Given the description of an element on the screen output the (x, y) to click on. 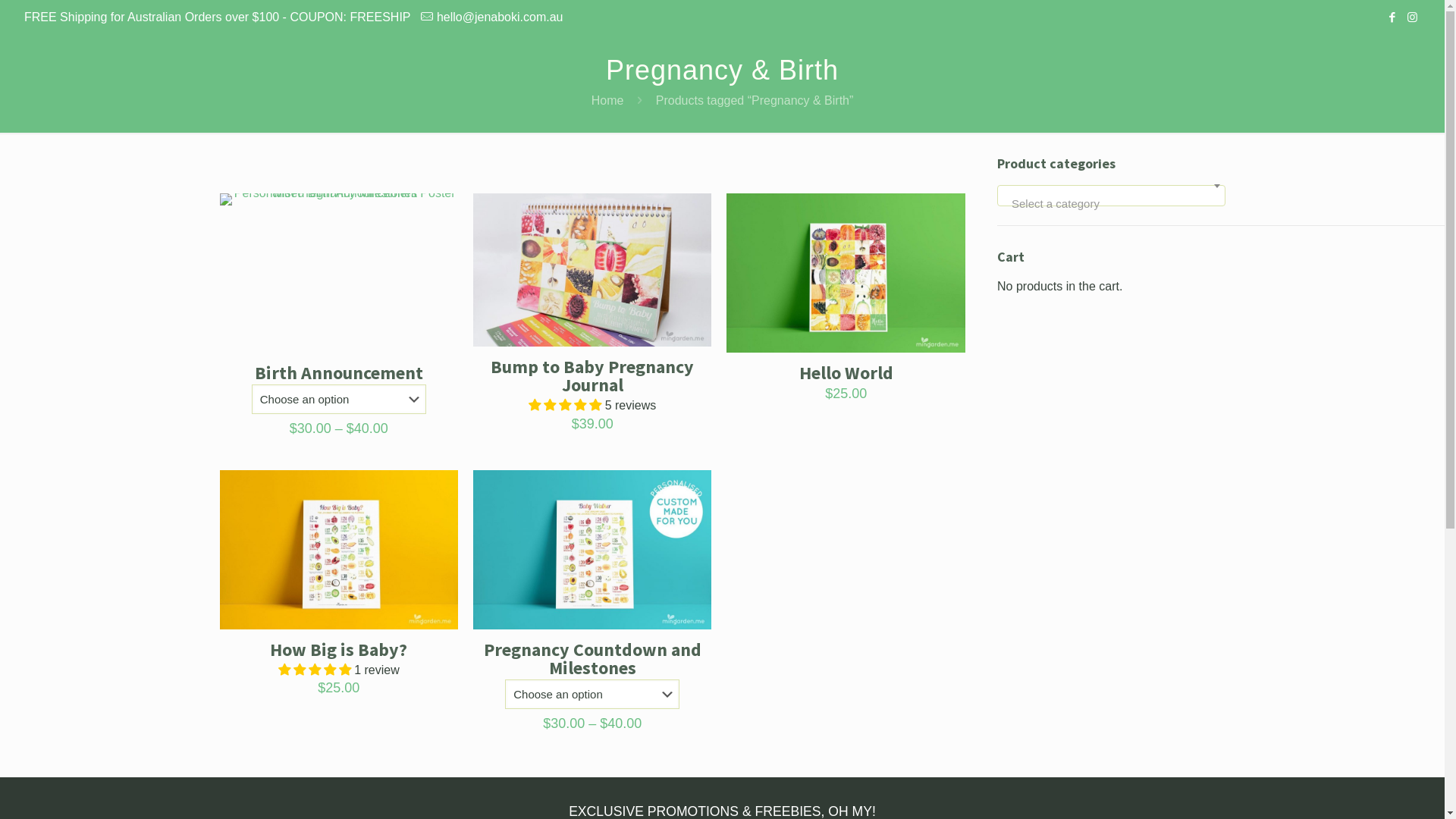
Facebook Element type: hover (1391, 16)
Birth Announcement Element type: text (338, 372)
Home Element type: text (607, 100)
Hello World Element type: text (846, 372)
Instagram Element type: hover (1412, 16)
Pregnancy Countdown and Milestones Element type: text (592, 658)
hello@jenaboki.com.au Element type: text (499, 16)
How Big is Baby? Element type: text (338, 649)
Bump to Baby Pregnancy Journal Element type: text (591, 375)
